Given the description of an element on the screen output the (x, y) to click on. 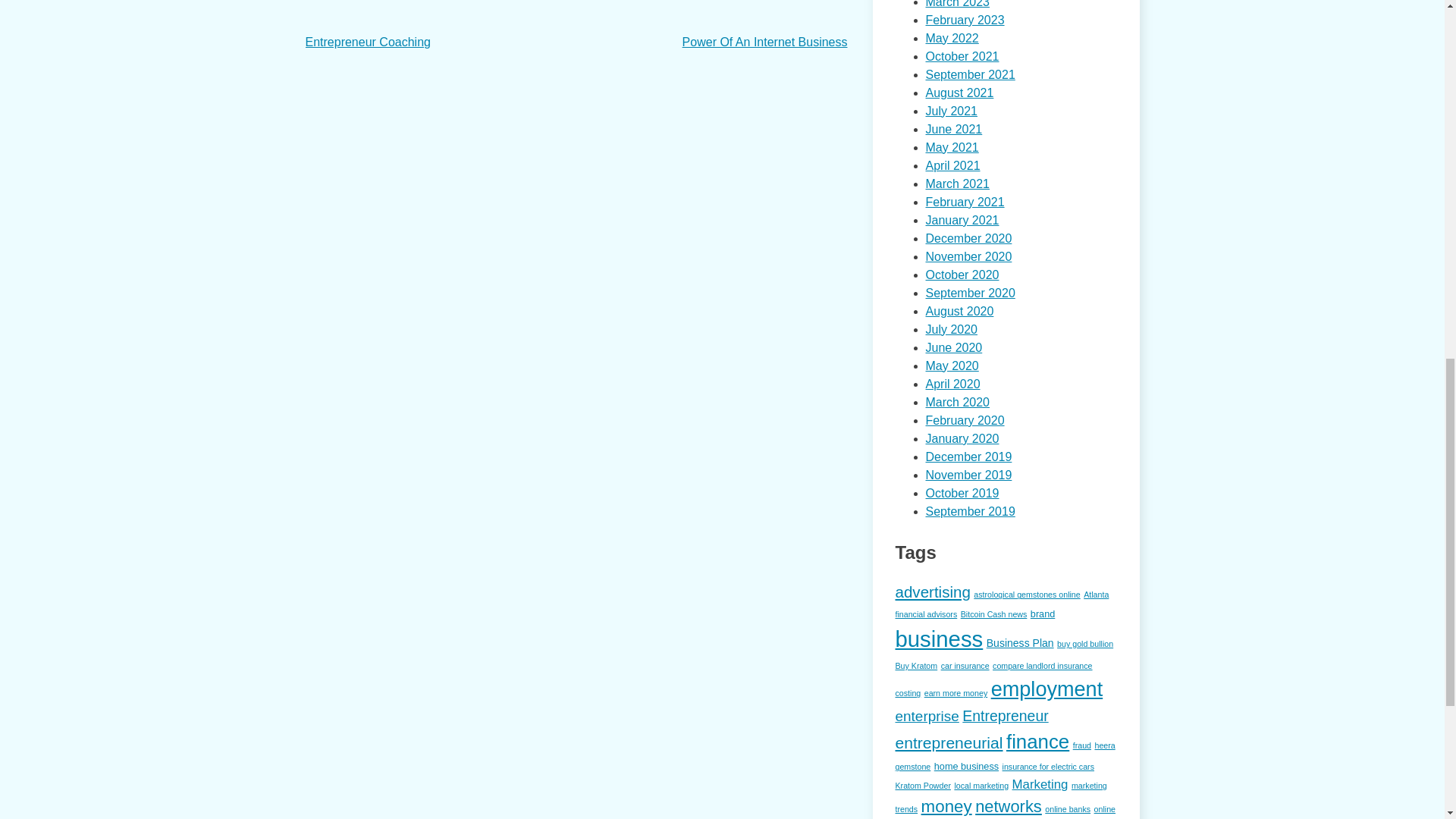
August 2021 (958, 92)
February 2021 (964, 201)
December 2020 (967, 237)
February 2023 (964, 19)
March 2021 (957, 183)
July 2021 (950, 110)
June 2021 (952, 128)
January 2021 (961, 219)
May 2022 (951, 38)
May 2021 (951, 146)
